Given the description of an element on the screen output the (x, y) to click on. 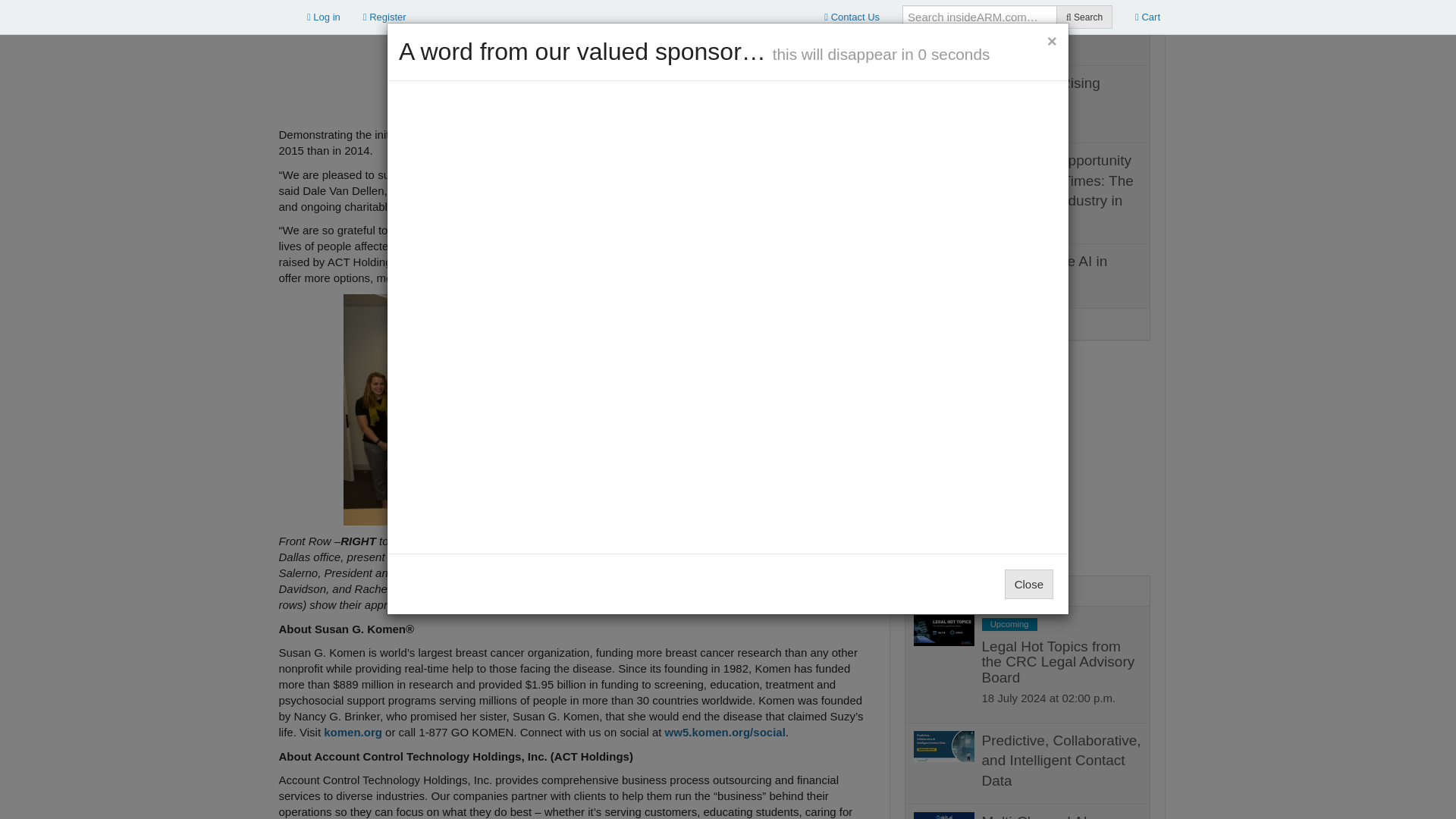
3rd party ad content (279, 52)
